Given the description of an element on the screen output the (x, y) to click on. 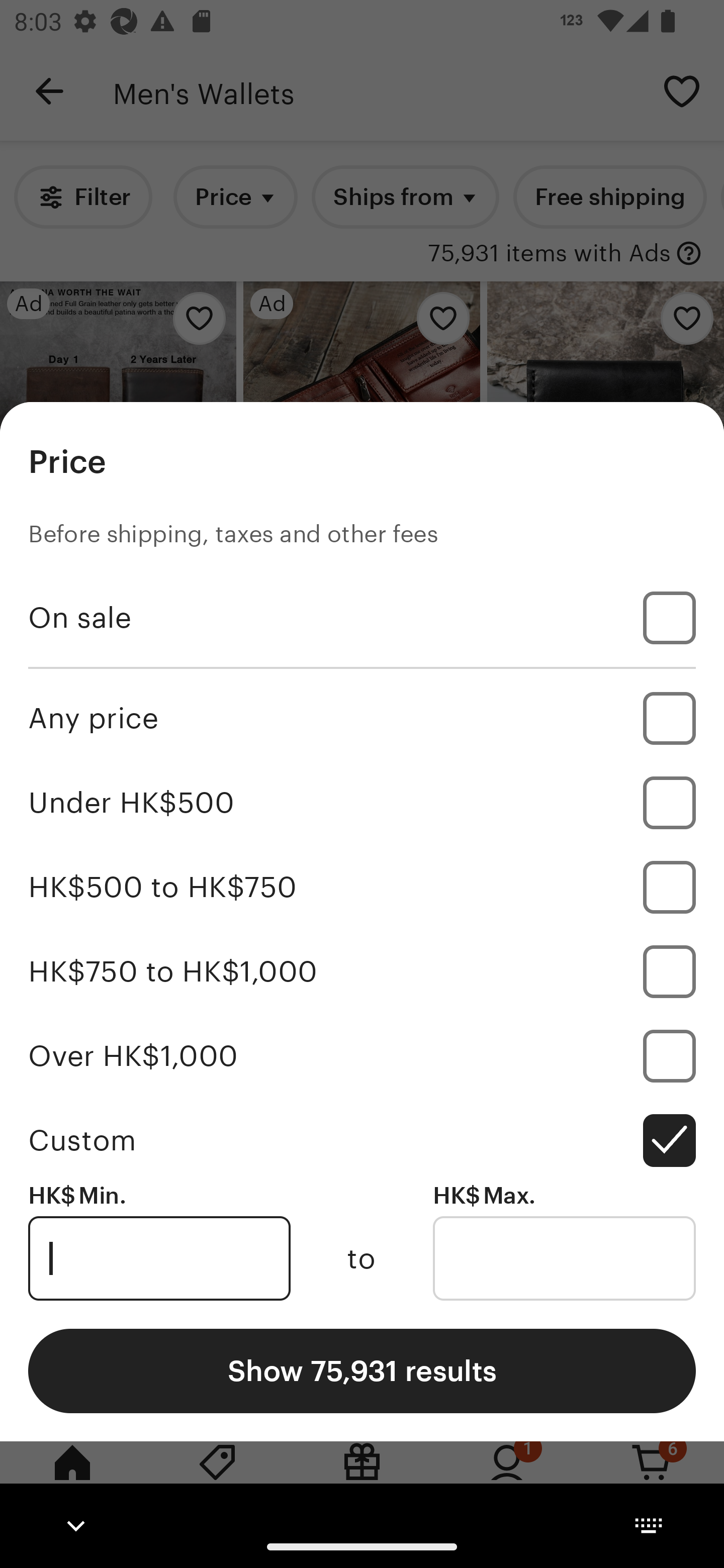
On sale (362, 617)
Any price (362, 717)
Under HK$500 (362, 802)
HK$500 to HK$750 (362, 887)
HK$750 to HK$1,000 (362, 970)
Over HK$1,000 (362, 1054)
Custom (362, 1139)
Show 75,931 results (361, 1370)
